Given the description of an element on the screen output the (x, y) to click on. 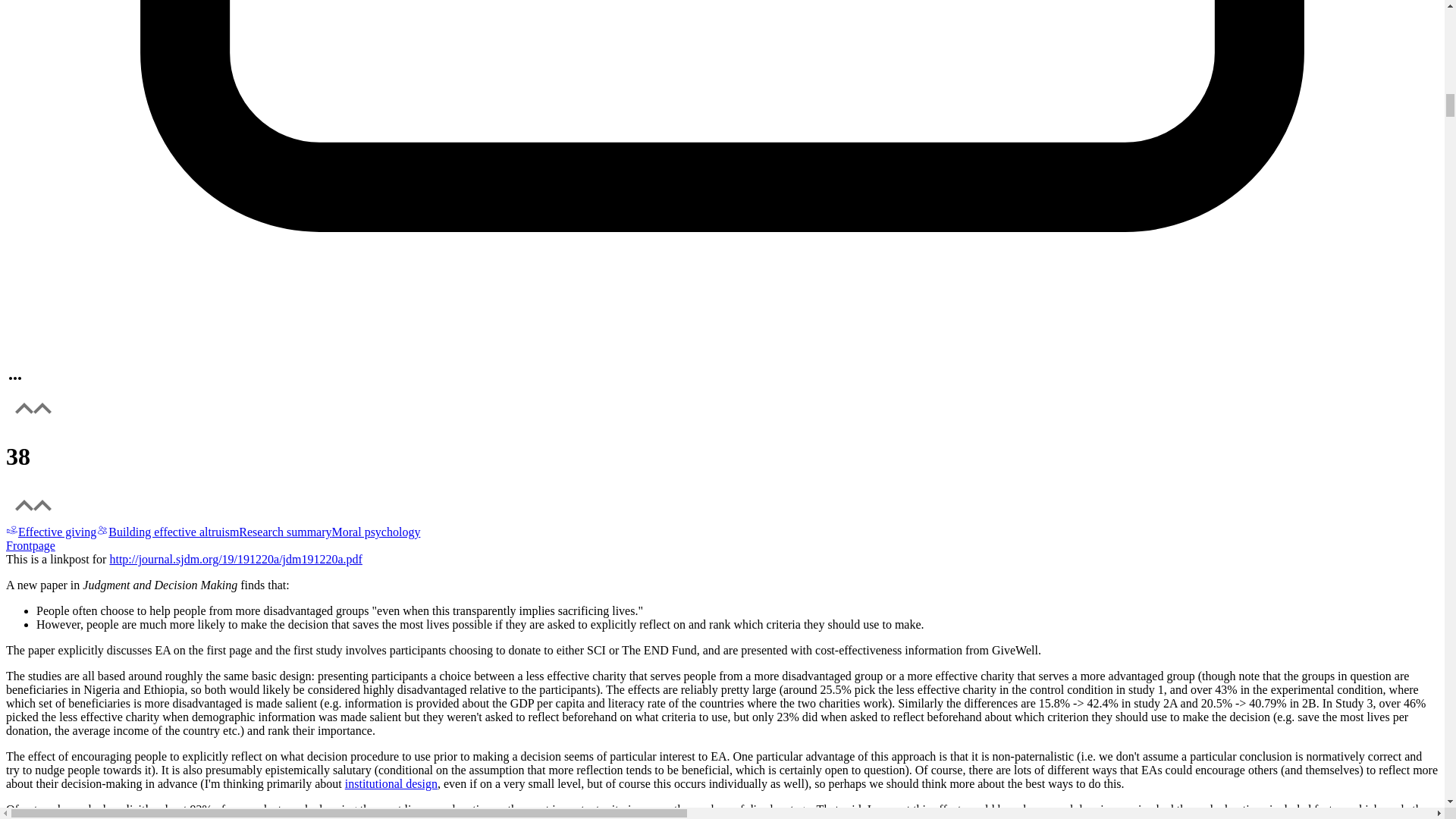
22 Votes (721, 456)
Effective giving (50, 531)
institutional design (391, 783)
Frontpage (721, 552)
Building effective altruism (167, 531)
Moral psychology (375, 531)
Research summary (284, 531)
